Given the description of an element on the screen output the (x, y) to click on. 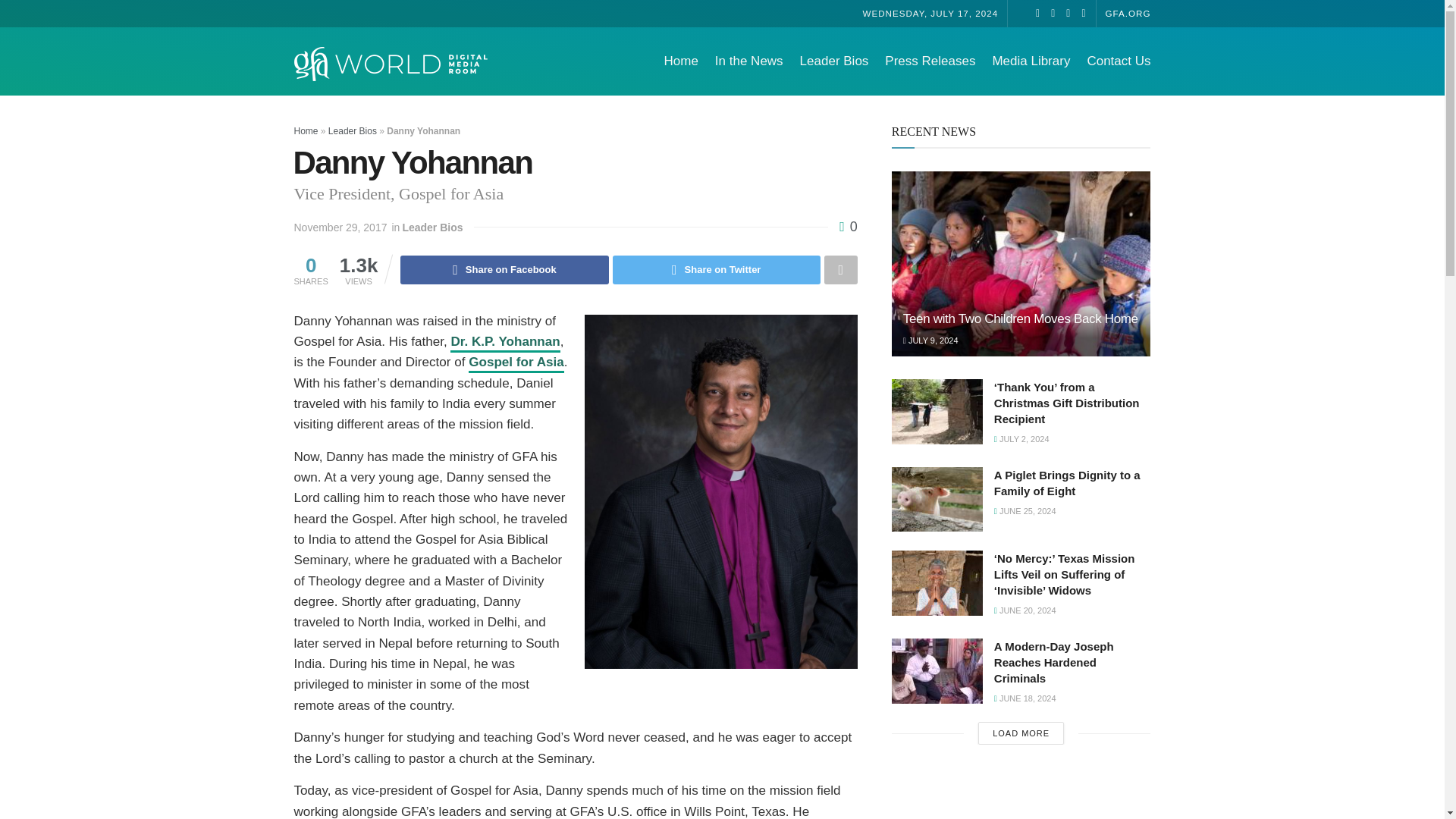
0 (848, 226)
Share on Facebook (504, 269)
Home (680, 61)
Leader Bios (432, 227)
In the News (748, 61)
Contact Us (1118, 61)
Leader Bios (353, 131)
GFA.ORG (1128, 13)
Press Releases (930, 61)
November 29, 2017 (340, 227)
Leader Bios (834, 61)
Share on Twitter (716, 269)
Media Library (1030, 61)
Home (306, 131)
